Given the description of an element on the screen output the (x, y) to click on. 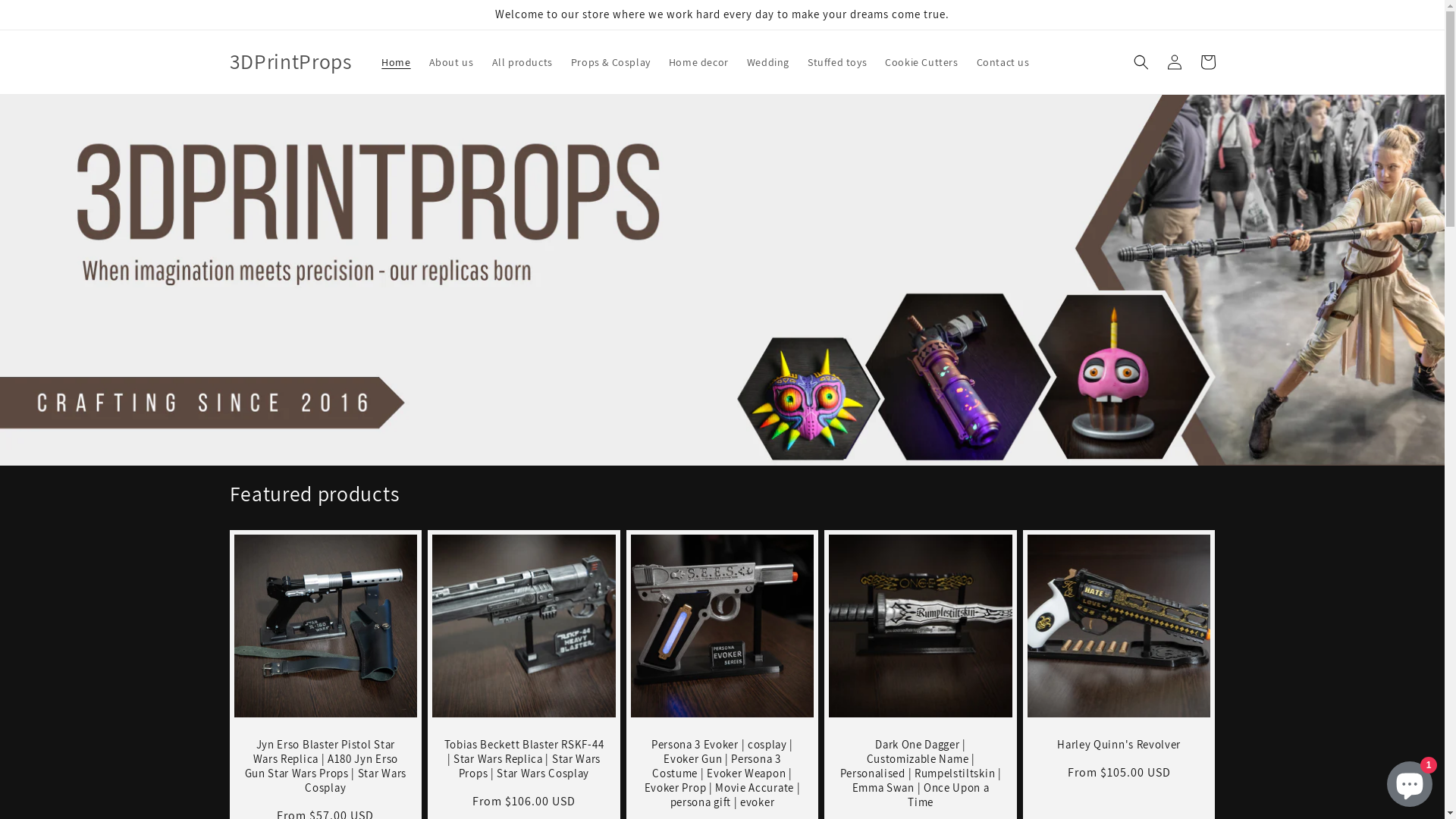
Home Element type: text (395, 62)
About us Element type: text (451, 62)
Harley Quinn's Revolver Element type: text (1119, 744)
Cart Element type: text (1206, 61)
Contact us Element type: text (1002, 62)
Stuffed toys Element type: text (836, 62)
Shopify online store chat Element type: hover (1409, 780)
Cookie Cutters Element type: text (920, 62)
3DPrintProps Element type: text (290, 62)
Home decor Element type: text (698, 62)
Log in Element type: text (1173, 61)
Props & Cosplay Element type: text (610, 62)
Wedding Element type: text (767, 62)
All products Element type: text (521, 62)
